Given the description of an element on the screen output the (x, y) to click on. 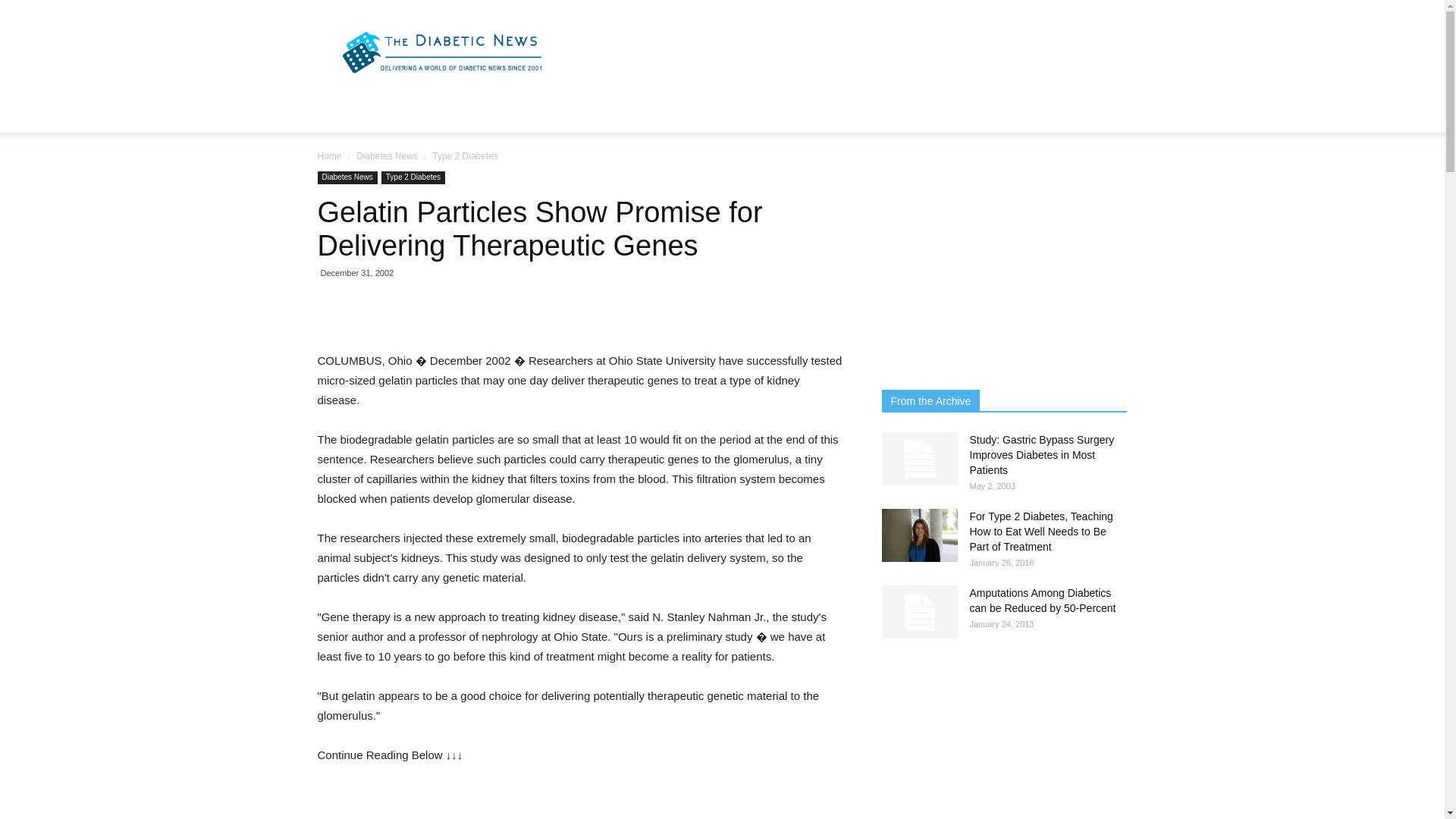
Advertisement (850, 55)
View all posts in Diabetes News (386, 155)
Advertisement (430, 801)
